Given the description of an element on the screen output the (x, y) to click on. 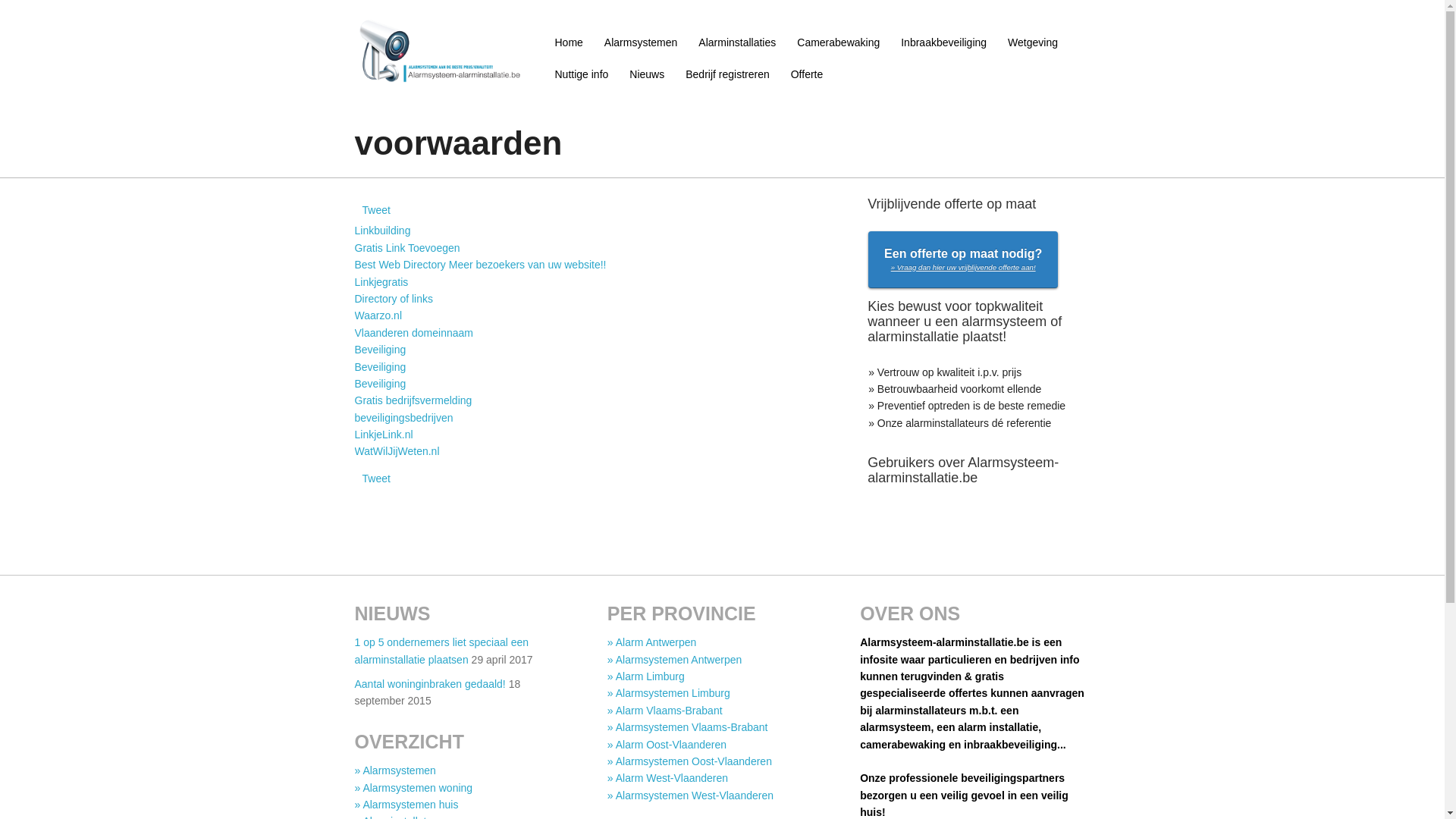
Beveiliging Element type: text (380, 383)
Best Web Directory Meer bezoekers van uw website!! Element type: text (480, 264)
Nieuws Element type: text (646, 74)
Nuttige info Element type: text (581, 74)
Aantal woninginbraken gedaald! Element type: text (429, 683)
Offerte Element type: text (807, 74)
Tweet Element type: text (376, 209)
Linkbuilding Element type: text (382, 230)
beveiligingsbedrijven Element type: text (403, 417)
Alarmsystemen Element type: text (640, 42)
Gratis Link Toevoegen Element type: text (407, 247)
Bedrijf registreren Element type: text (727, 74)
WatWilJijWeten.nl Element type: text (396, 451)
Alarminstallaties Element type: text (736, 42)
LinkjeLink.nl Element type: text (383, 434)
Wetgeving Element type: text (1032, 42)
Beveiliging Element type: text (380, 349)
Beveiliging Element type: text (380, 366)
Vlaanderen domeinnaam Element type: text (413, 332)
Directory of links Element type: text (393, 298)
Waarzo.nl Element type: text (378, 315)
Gratis bedrijfsvermelding Element type: text (413, 400)
Tweet Element type: text (376, 478)
Inbraakbeveiliging Element type: text (943, 42)
Linkjegratis Element type: text (381, 282)
Camerabewaking Element type: text (838, 42)
Home Element type: text (568, 42)
